Given the description of an element on the screen output the (x, y) to click on. 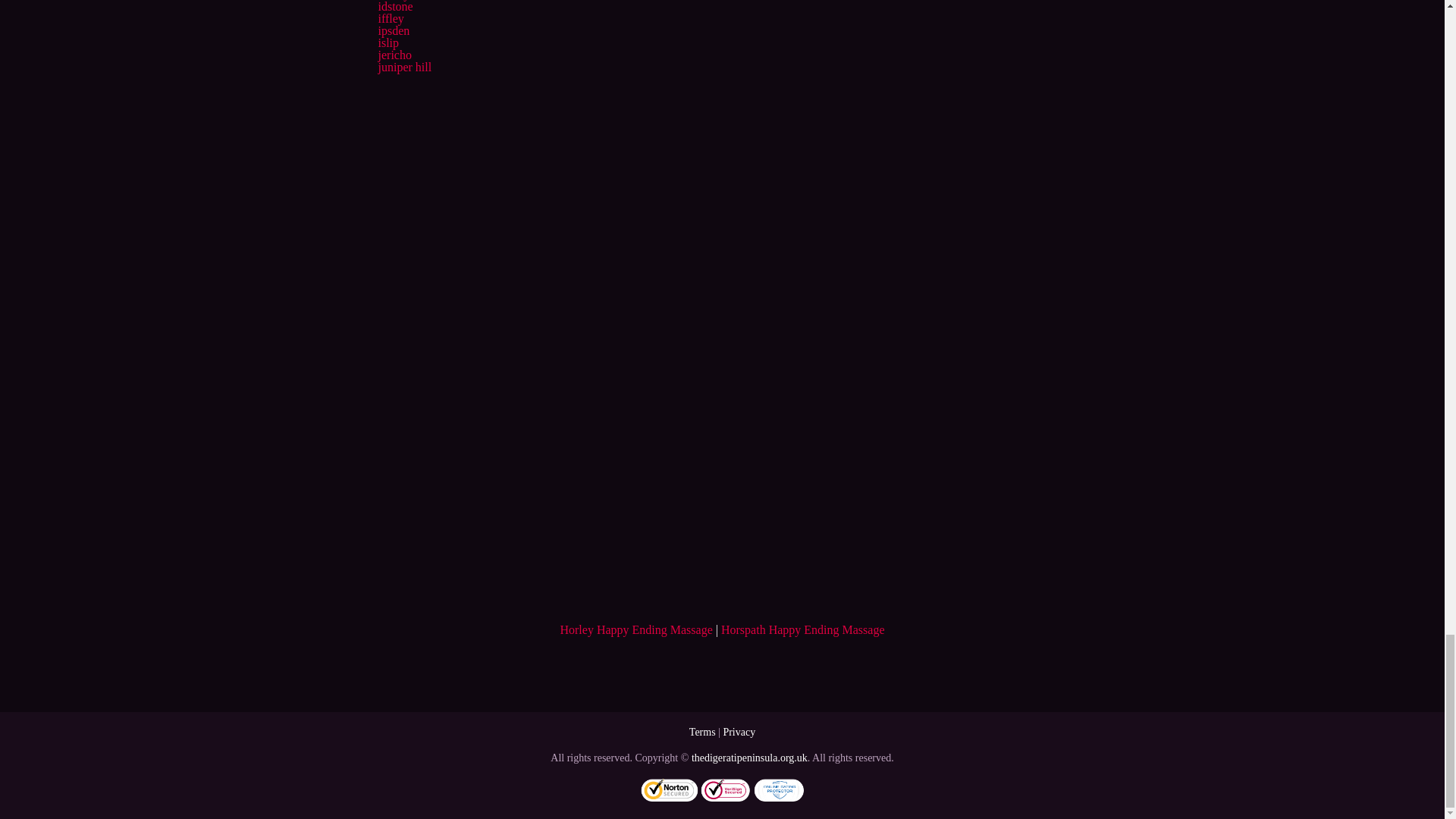
Privacy (738, 731)
Horspath Happy Ending Massage (802, 629)
Privacy (738, 731)
iffley (390, 18)
juniper hill (403, 66)
Terms (702, 731)
thedigeratipeninsula.org.uk (749, 757)
ipsden (393, 30)
idstone (394, 6)
